Given the description of an element on the screen output the (x, y) to click on. 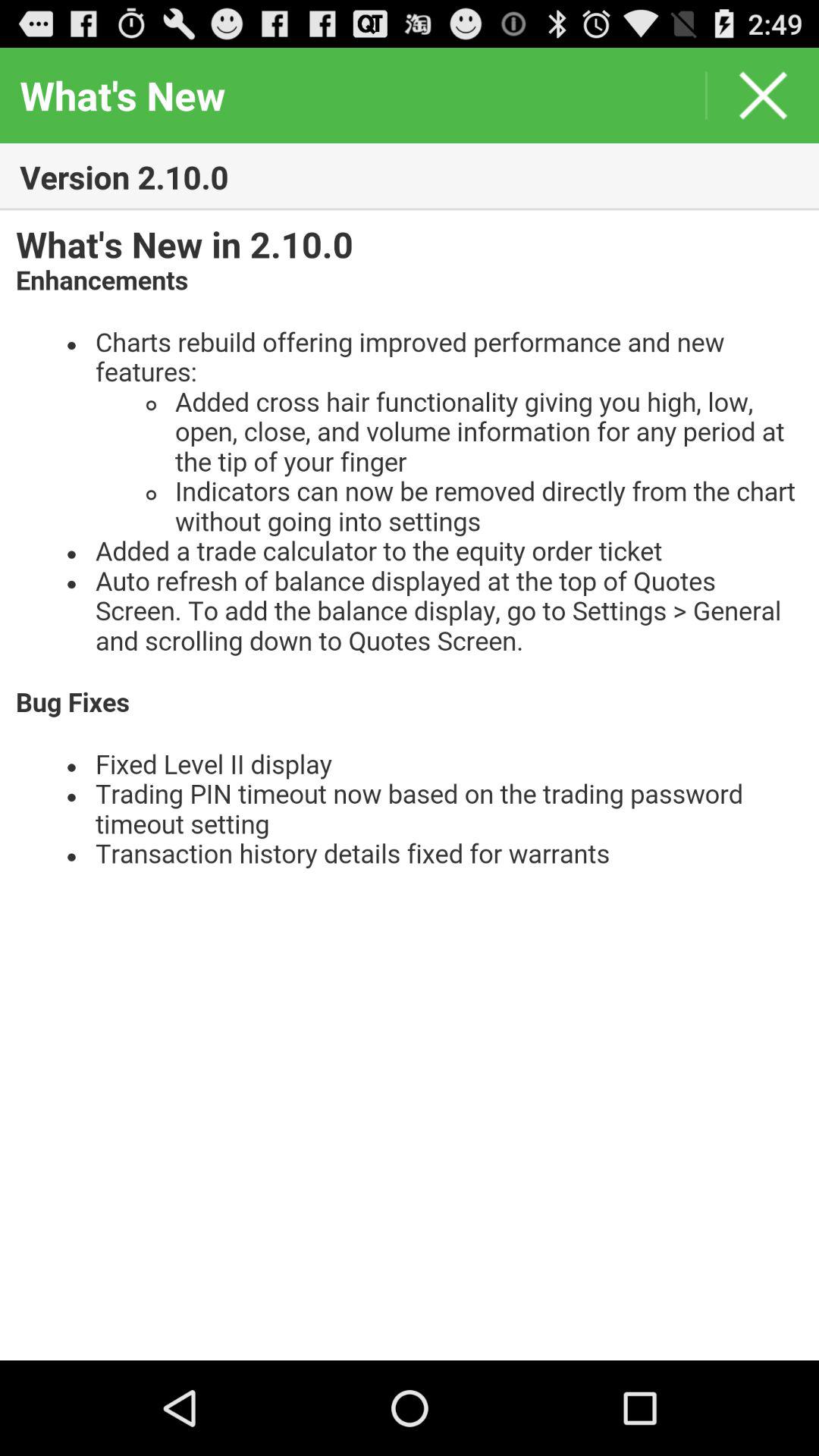
text page (409, 785)
